Given the description of an element on the screen output the (x, y) to click on. 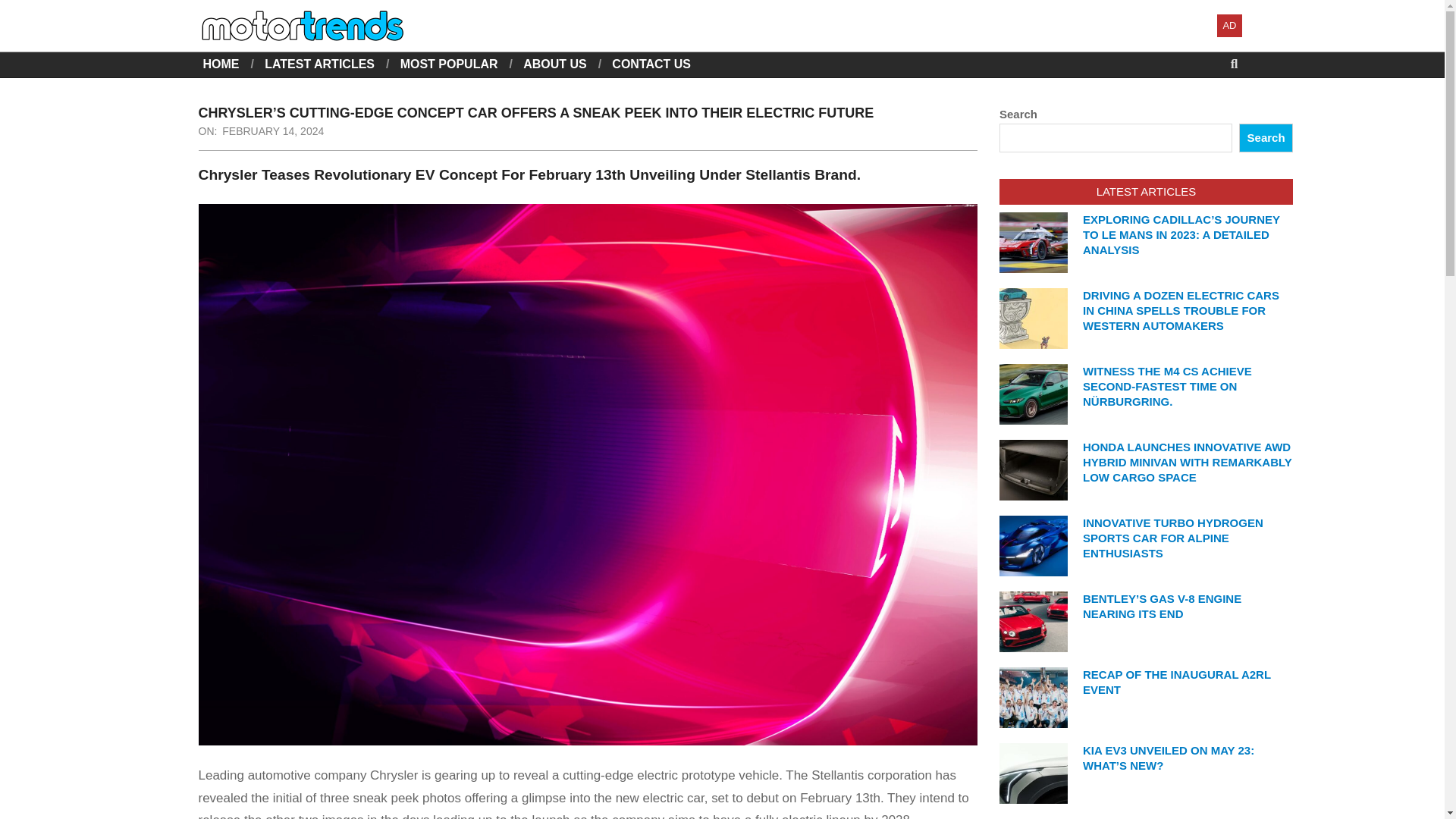
RECAP OF THE INAUGURAL A2RL EVENT (1177, 682)
ABOUT US (554, 63)
CONTACT US (650, 63)
LATEST ARTICLES (319, 63)
INNOVATIVE TURBO HYDROGEN SPORTS CAR FOR ALPINE ENTHUSIASTS (1173, 537)
Search (1265, 137)
HOME (221, 63)
Wednesday, February 14, 2024, 10:37 am (272, 131)
MOST POPULAR (448, 63)
Search (24, 9)
